Given the description of an element on the screen output the (x, y) to click on. 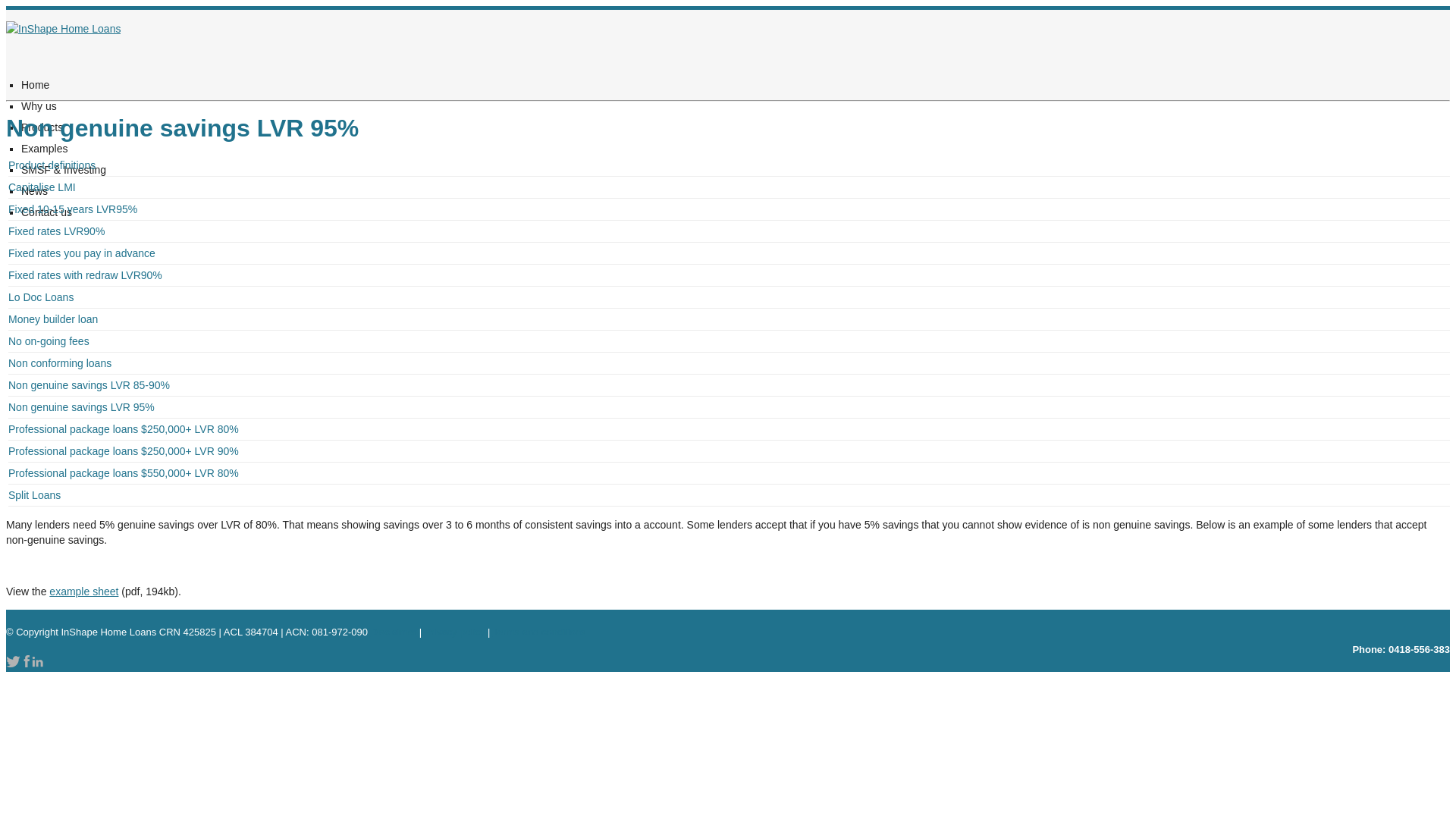
No on-going fees Element type: text (728, 340)
Non genuine savings LVR 85-90% Element type: text (728, 384)
Examples Element type: text (44, 147)
Home Element type: text (35, 83)
example sheet Element type: text (83, 591)
Split Loans Element type: text (728, 494)
Professional package loans $250,000+ LVR 90% Element type: text (728, 450)
Privacy policy Element type: text (454, 631)
Professional package loans $550,000+ LVR 80% Element type: text (728, 472)
Non genuine savings LVR 95% Element type: text (728, 406)
Lo Doc Loans Element type: text (728, 296)
Product definitions Element type: text (728, 164)
Fixed rates with redraw LVR90% Element type: text (728, 274)
Products Element type: text (41, 126)
Disclaimer Element type: text (393, 631)
Capitalise LMI Element type: text (728, 186)
Terms and conditions Element type: text (539, 631)
Why us Element type: text (38, 104)
News Element type: text (34, 189)
Professional package loans $250,000+ LVR 80% Element type: text (728, 428)
SMSF & Investing Element type: text (63, 168)
Contact us Element type: text (46, 211)
Fixed rates LVR90% Element type: text (728, 230)
Money builder loan Element type: text (728, 318)
Non conforming loans Element type: text (728, 362)
Fixed 10-15 years LVR95% Element type: text (728, 208)
Fixed rates you pay in advance Element type: text (728, 252)
